Given the description of an element on the screen output the (x, y) to click on. 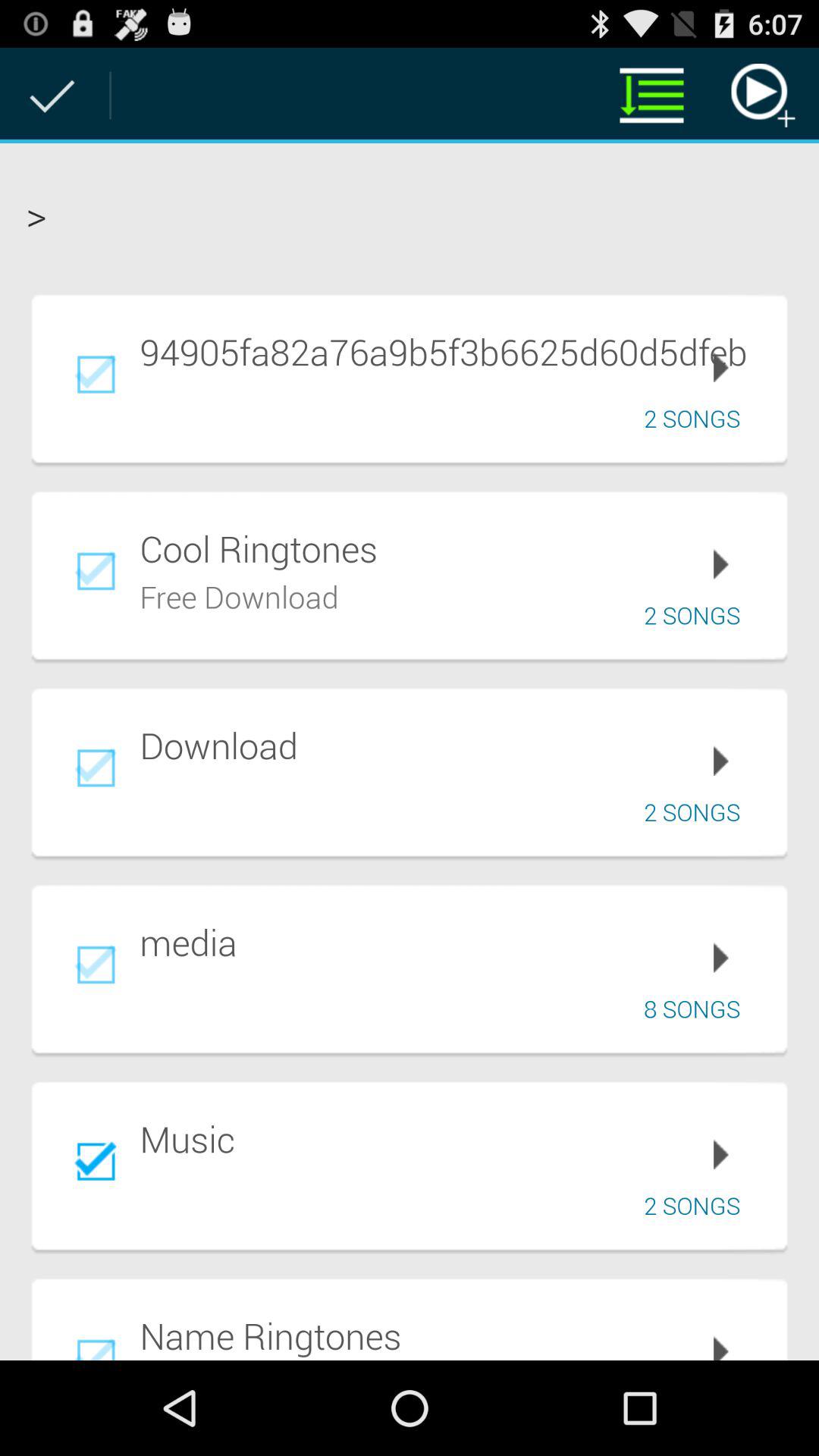
click the cool ringtones item (452, 548)
